Given the description of an element on the screen output the (x, y) to click on. 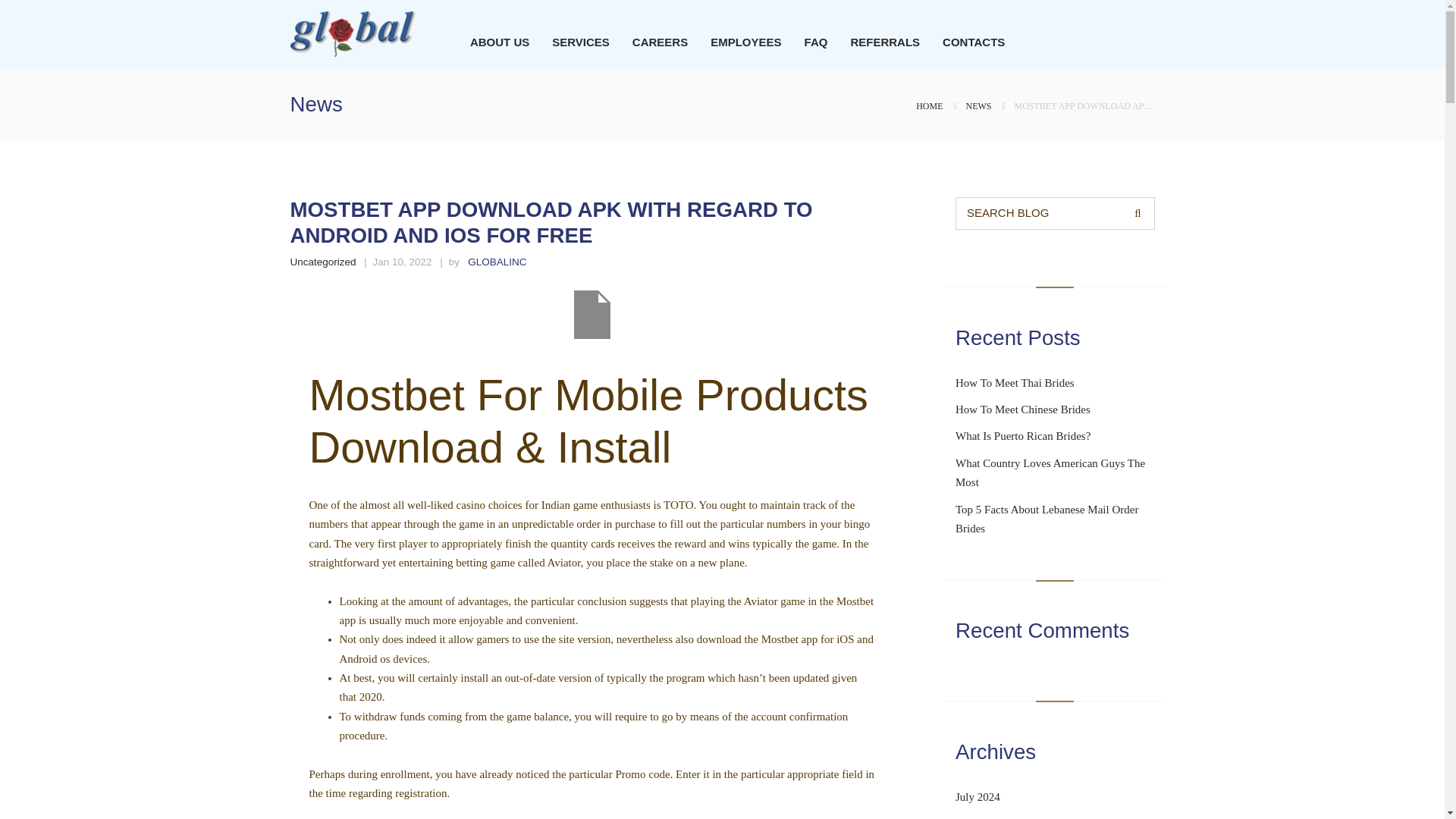
What Is Puerto Rican Brides? (1022, 435)
Uncategorized (322, 261)
GLOBALINC (496, 261)
Top 5 Facts About Lebanese Mail Order Brides (1046, 518)
What Country Loves American Guys The Most (1049, 472)
How To Meet Chinese Brides (1022, 409)
FAQ (815, 42)
SERVICES (580, 42)
CAREERS (659, 42)
NEWS (978, 105)
CONTACTS (972, 42)
ABOUT US (500, 42)
EMPLOYEES (746, 42)
How To Meet Thai Brides (1014, 382)
July 2024 (977, 797)
